Given the description of an element on the screen output the (x, y) to click on. 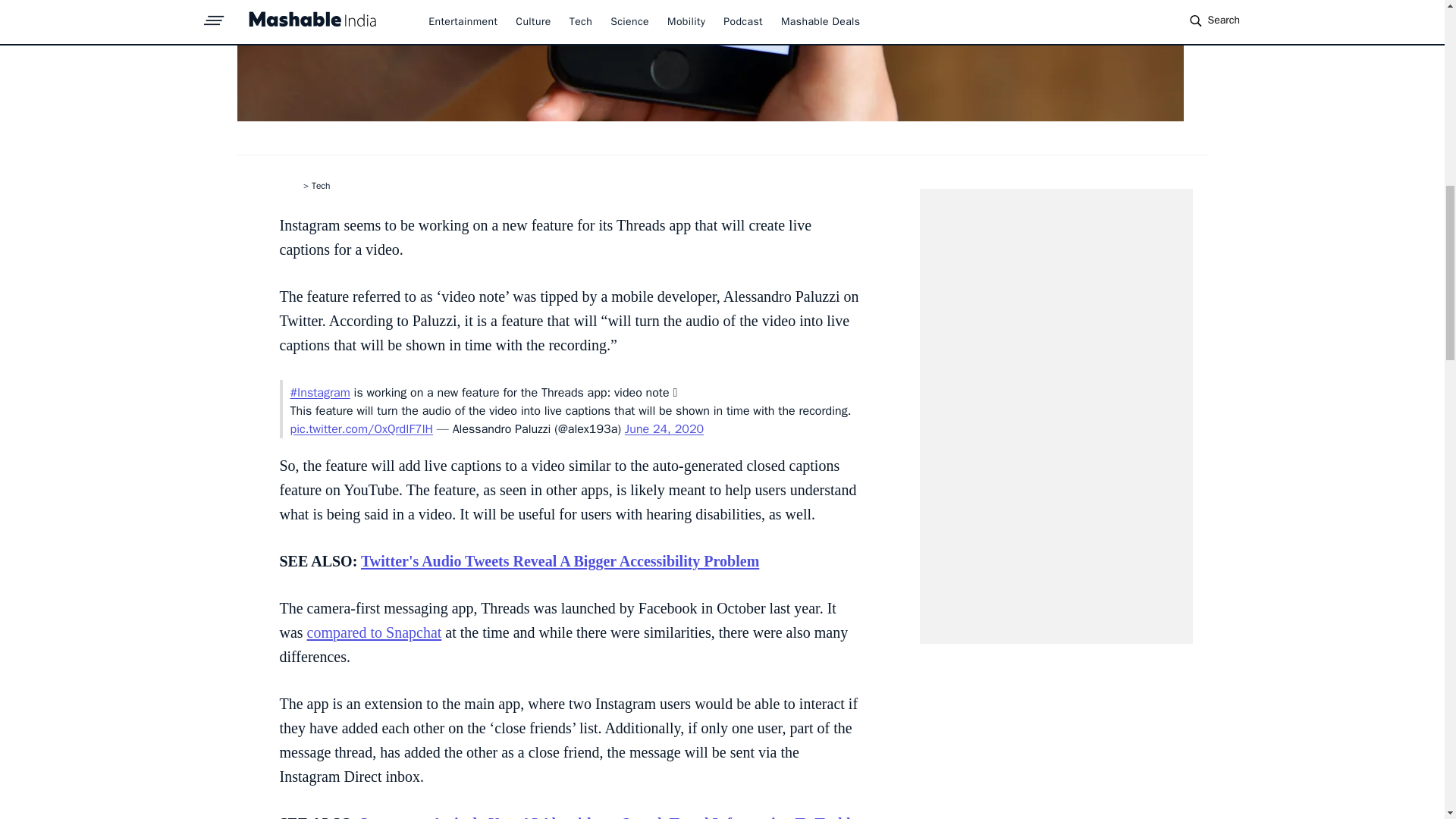
June 24, 2020 (663, 428)
compared to Snapchat (374, 632)
Twitter's Audio Tweets Reveal A Bigger Accessibility Problem (559, 560)
